Given the description of an element on the screen output the (x, y) to click on. 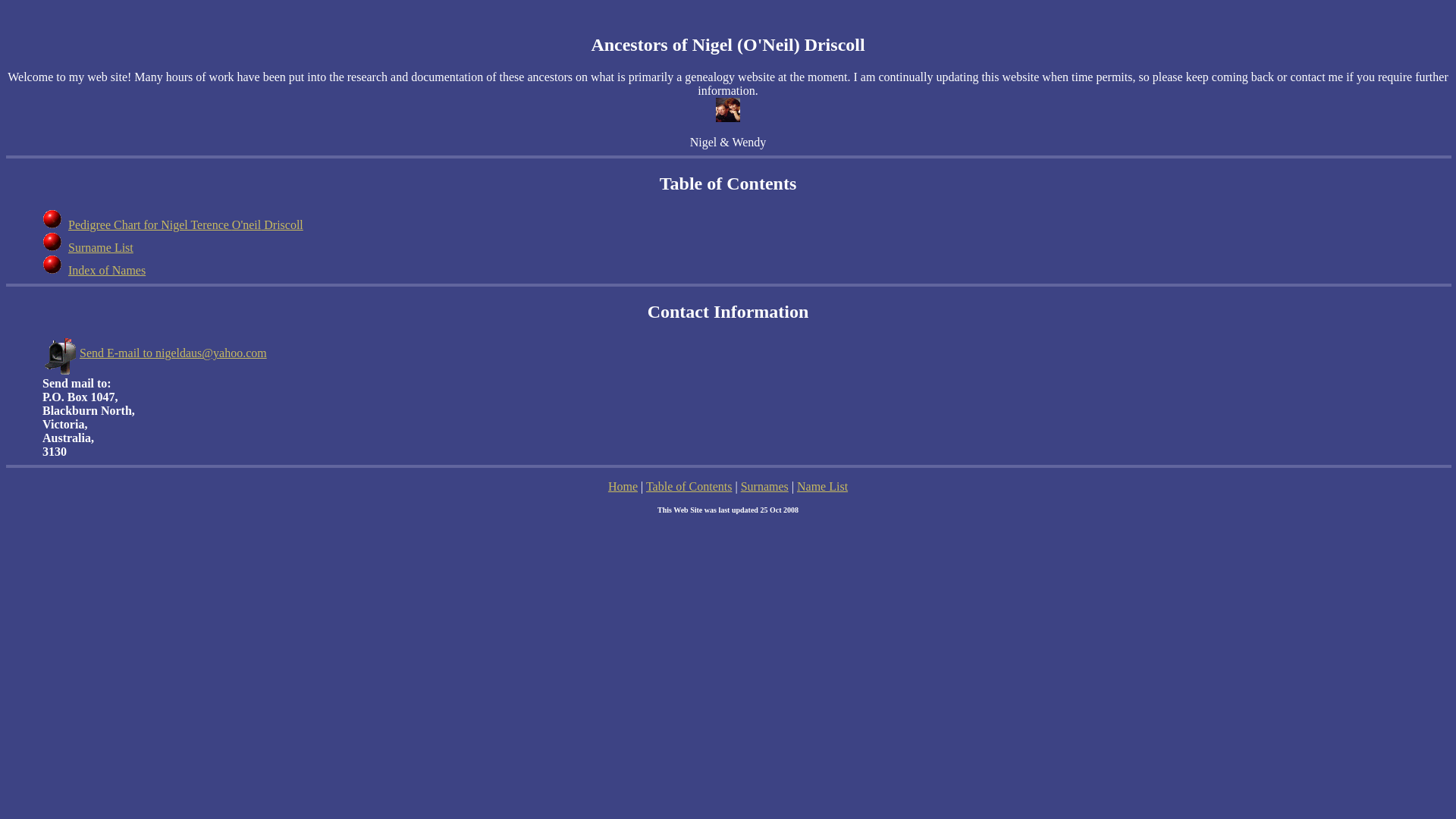
Home Element type: text (622, 486)
Table of Contents Element type: text (689, 486)
Name List Element type: text (822, 486)
Surname List Element type: text (100, 247)
Pedigree Chart for Nigel Terence O'neil Driscoll Element type: text (185, 224)
Index of Names Element type: text (106, 269)
Send E-mail to nigeldaus@yahoo.com Element type: text (154, 352)
Surnames Element type: text (764, 486)
